Given the description of an element on the screen output the (x, y) to click on. 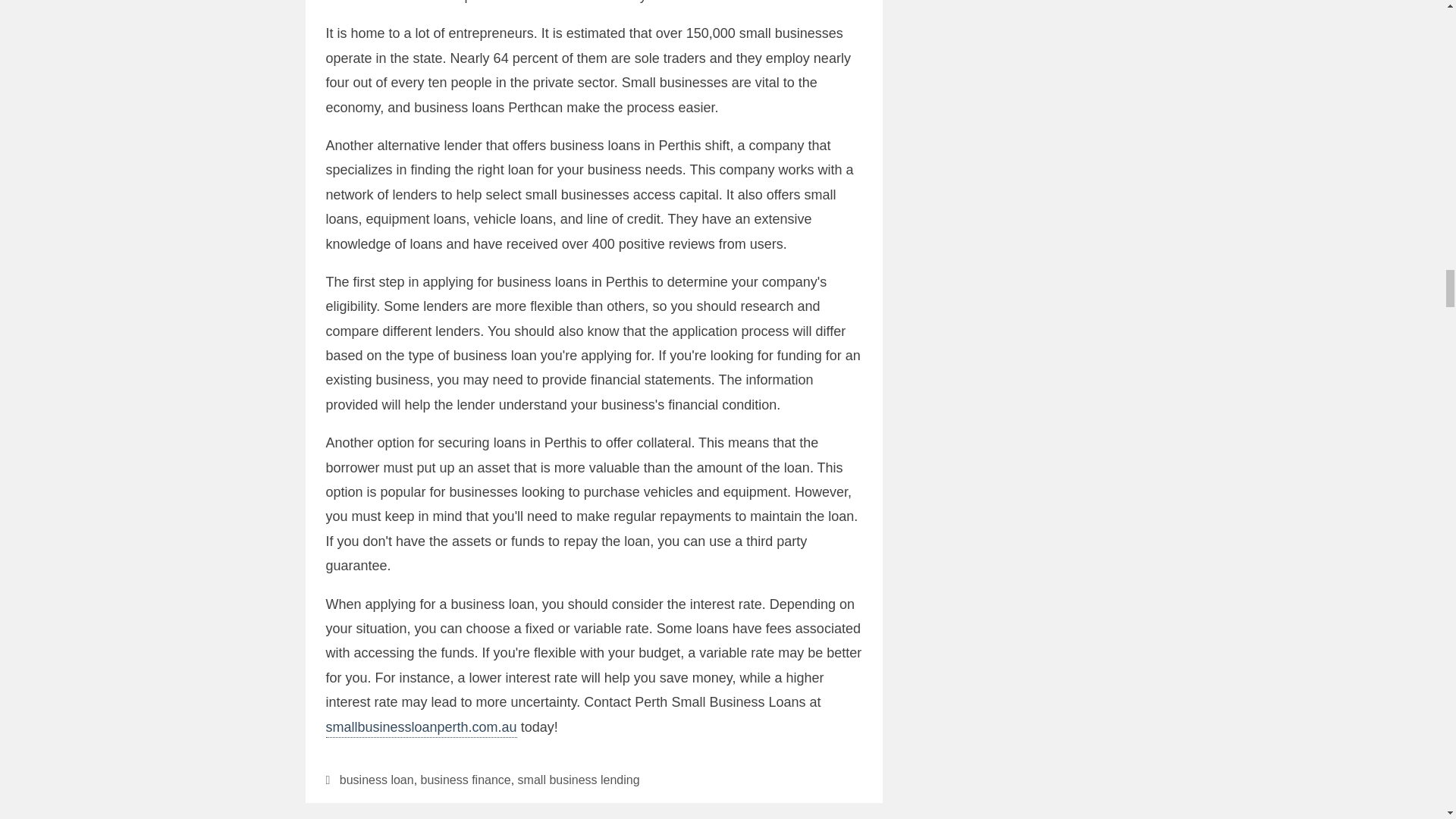
small business lending (579, 779)
business loan (376, 779)
smallbusinessloanperth.com.au (421, 728)
business finance (465, 779)
